Given the description of an element on the screen output the (x, y) to click on. 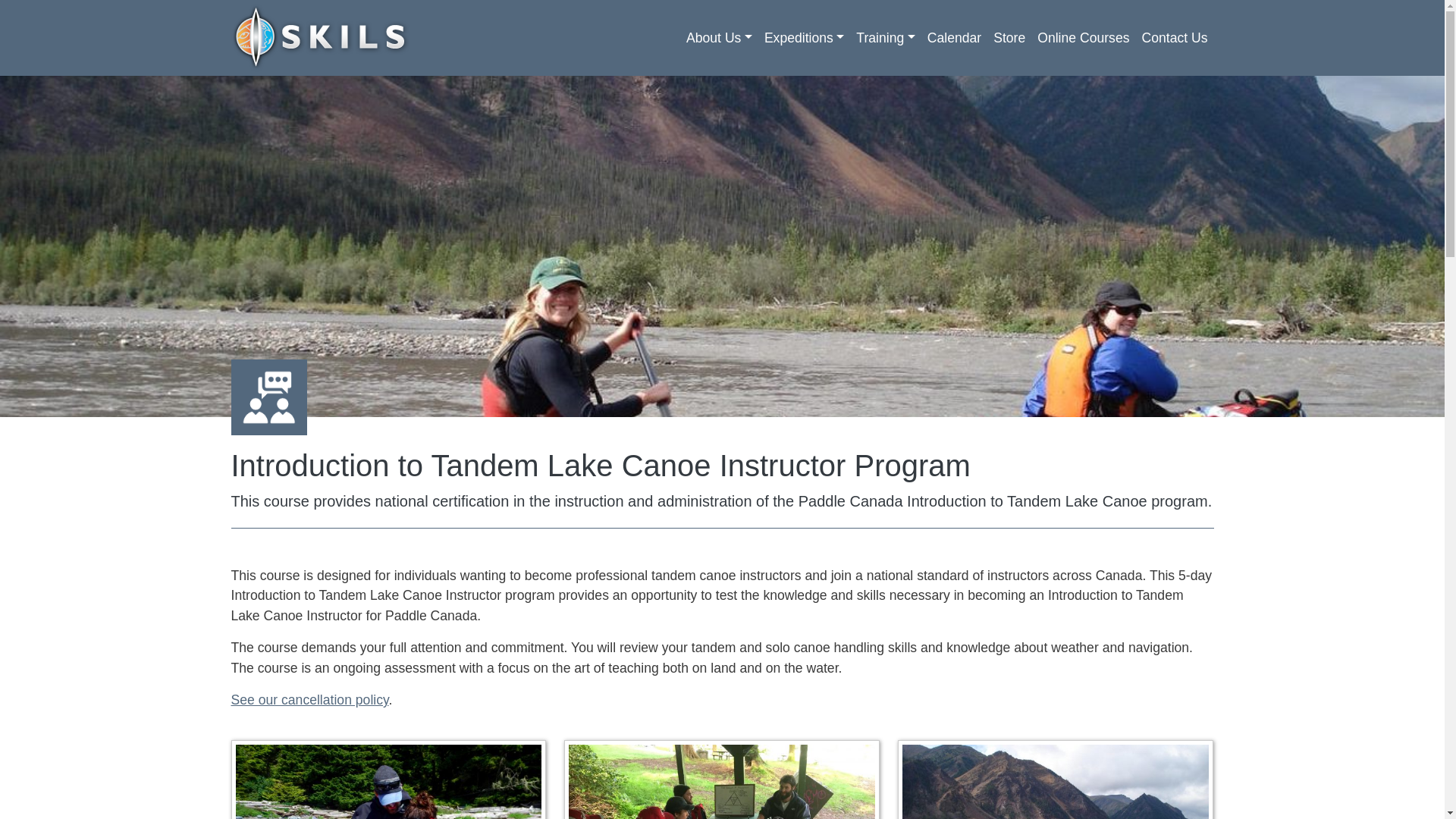
About Us (718, 38)
About Us (718, 38)
Online Courses (1082, 38)
Training (885, 38)
Training (885, 38)
Expeditions (804, 38)
See our cancellation policy (309, 699)
Expeditions (804, 38)
Contact Us (1173, 38)
Store (1008, 38)
Calendar (954, 38)
